Given the description of an element on the screen output the (x, y) to click on. 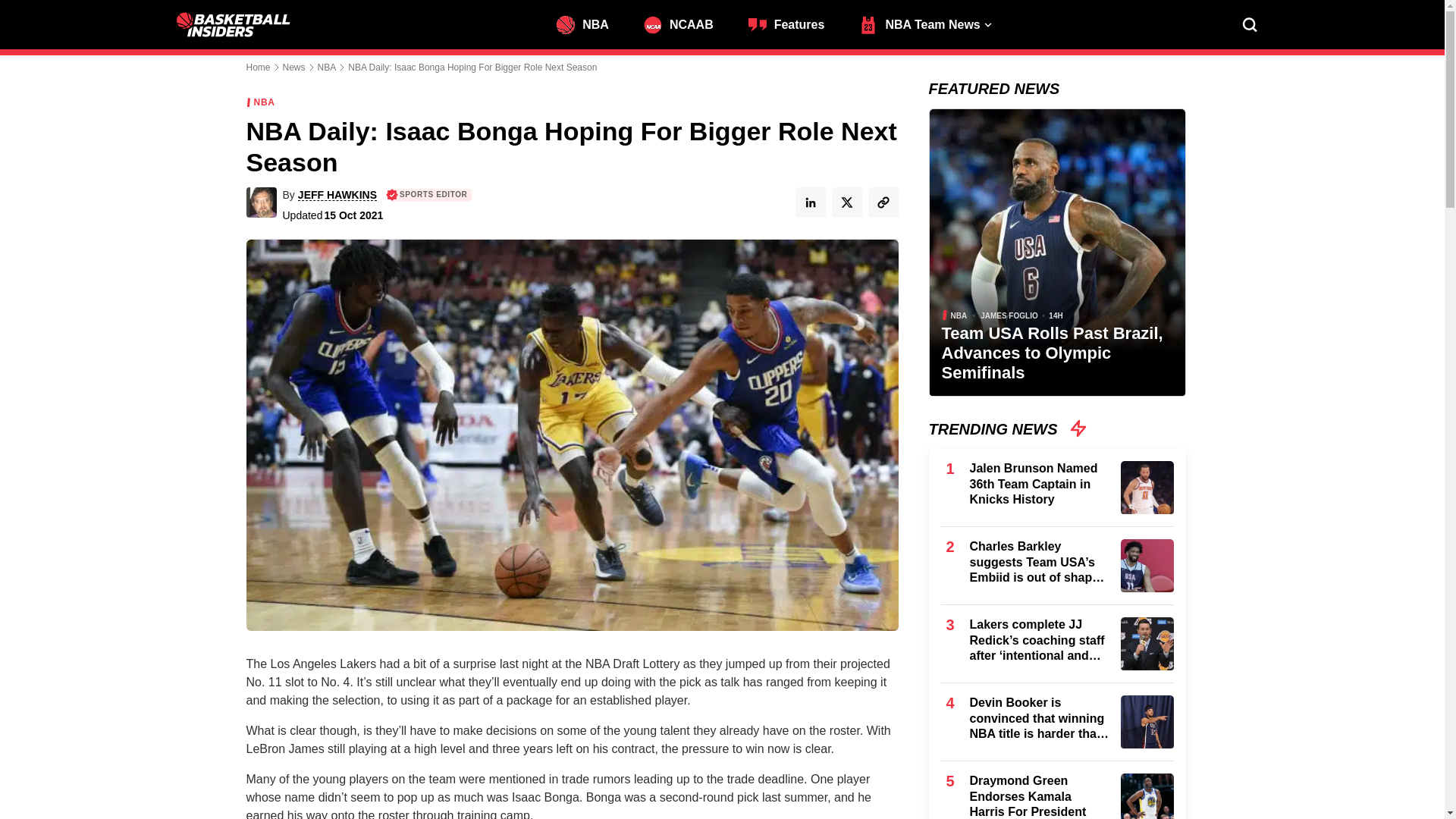
NBA (589, 22)
NBA Team News (926, 22)
Features (793, 22)
NCAAB (685, 22)
